Given the description of an element on the screen output the (x, y) to click on. 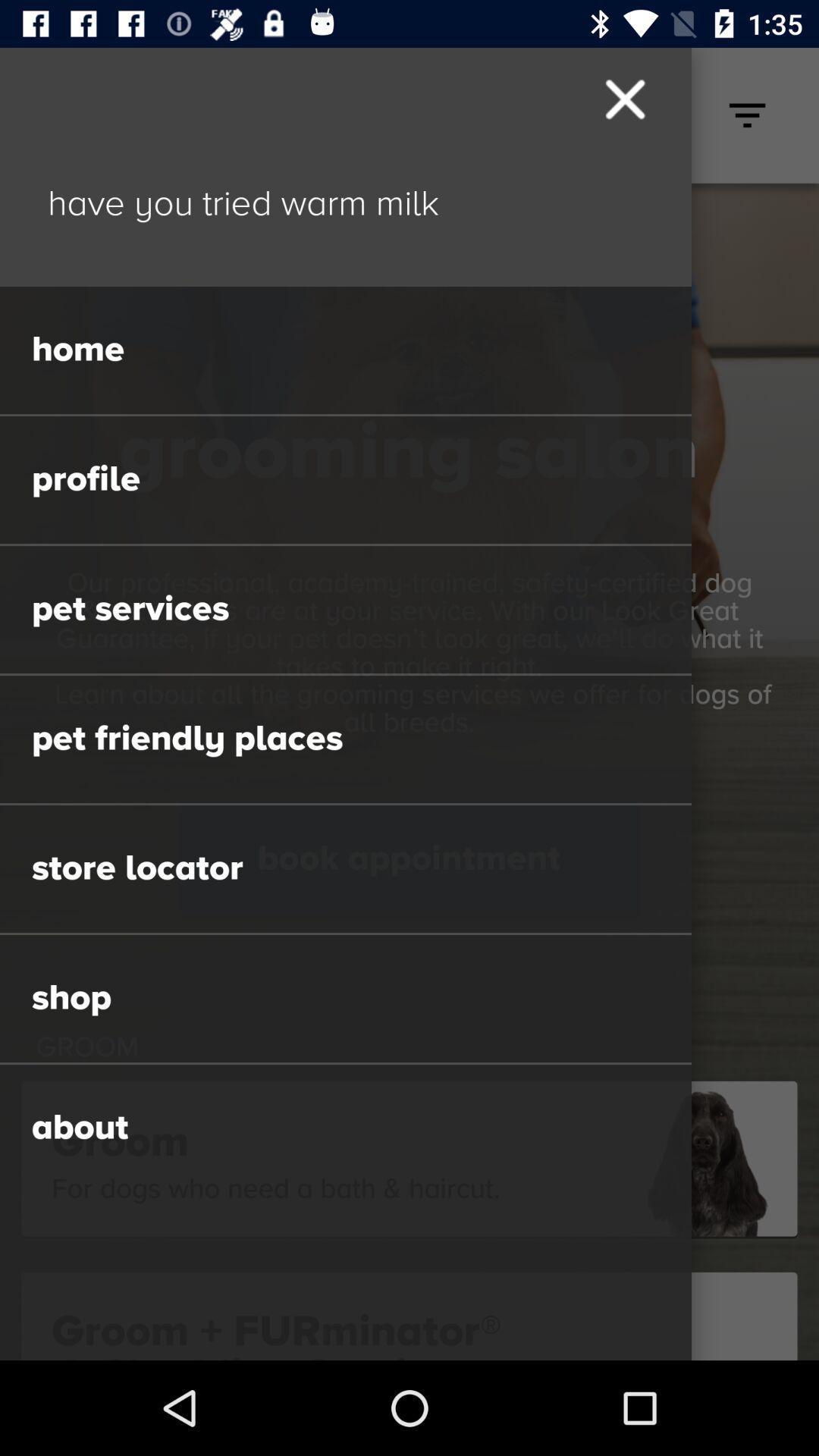
click on cancel button (624, 99)
click on the button at the top right corner of the page (747, 114)
